Given the description of an element on the screen output the (x, y) to click on. 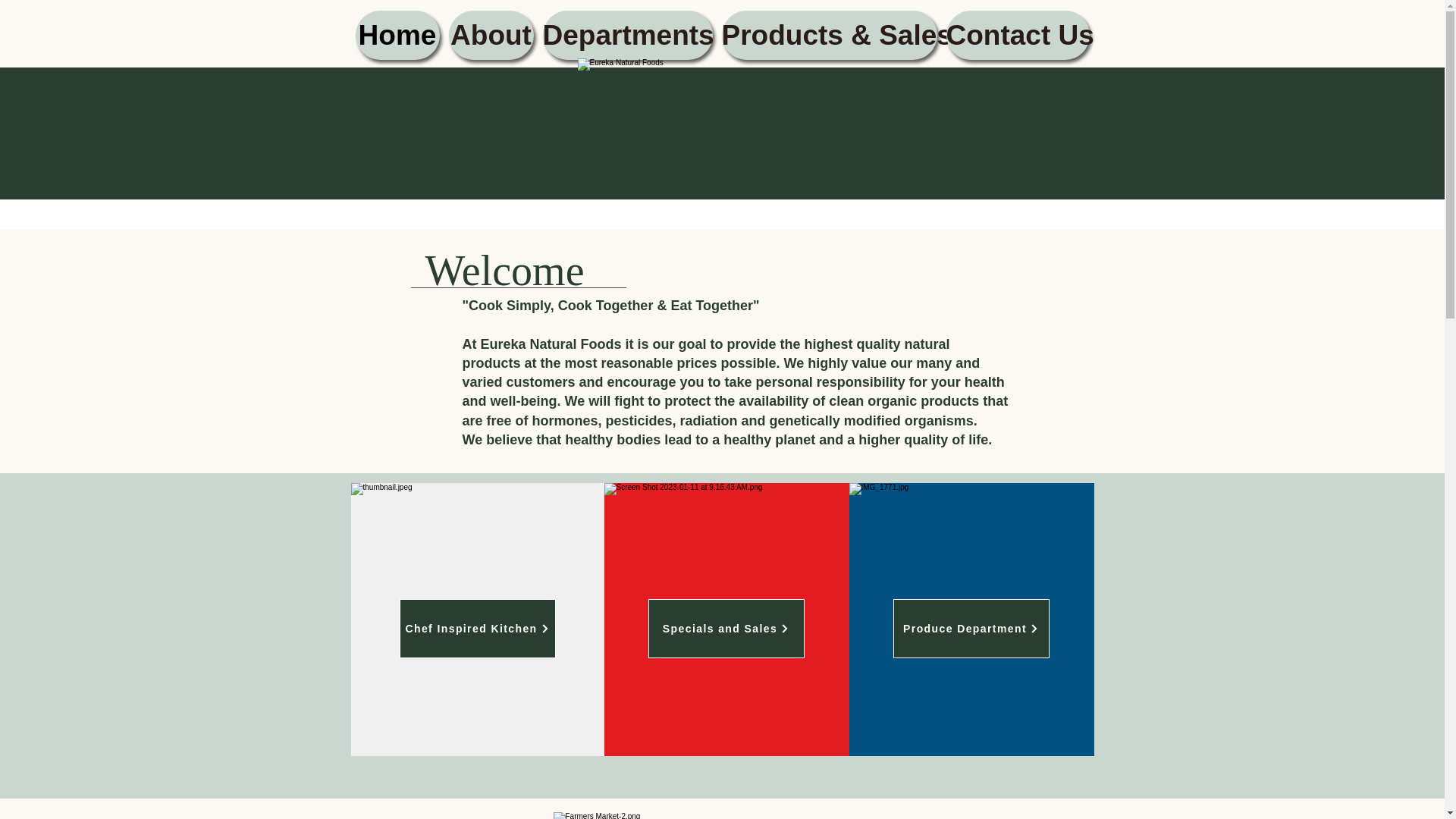
Chef Inspired Kitchen (476, 628)
Home (397, 34)
Specials and Sales (725, 628)
Produce Department (971, 628)
